Given the description of an element on the screen output the (x, y) to click on. 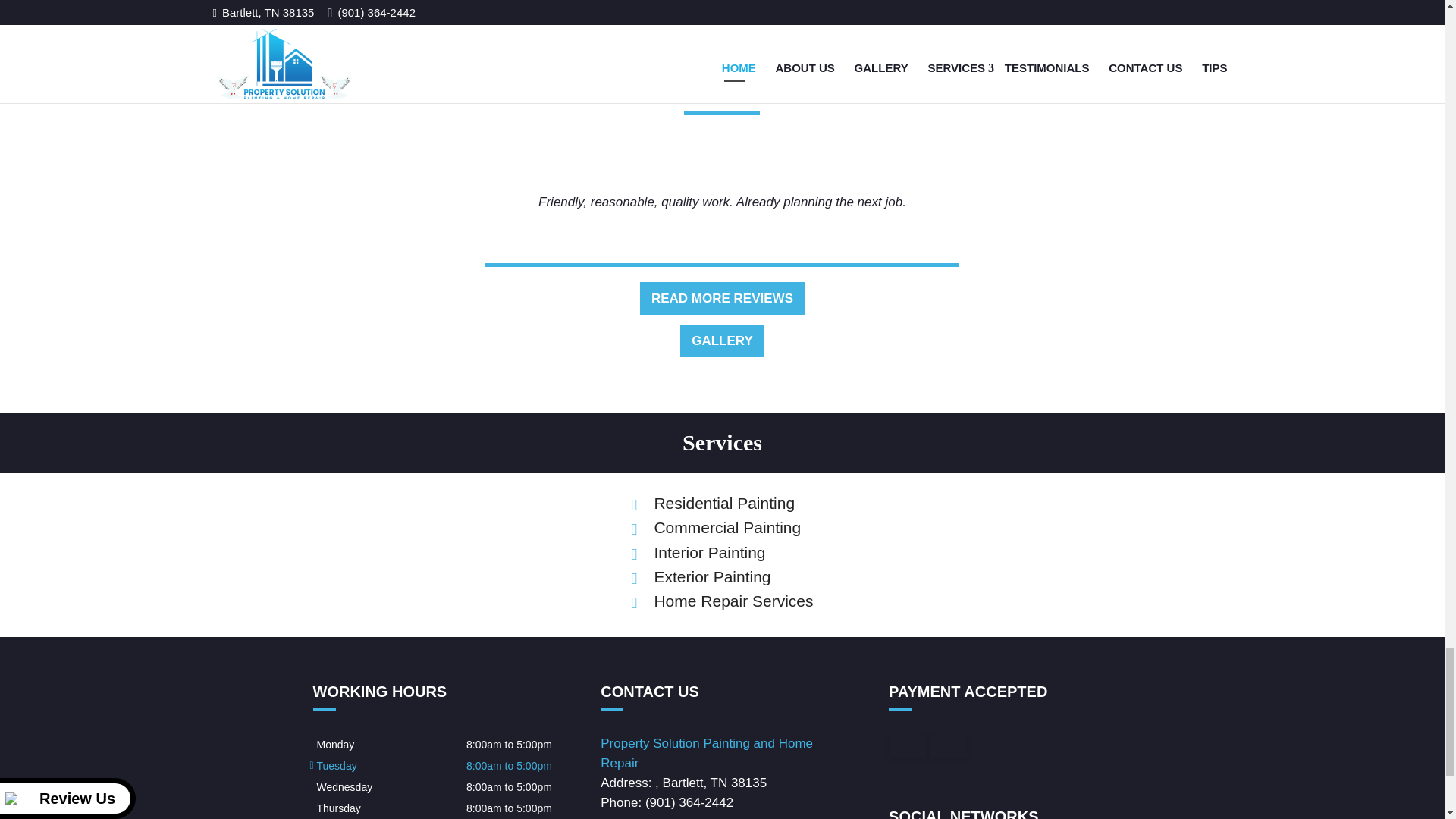
GALLERY (722, 290)
READ MORE REVIEWS (722, 247)
